Given the description of an element on the screen output the (x, y) to click on. 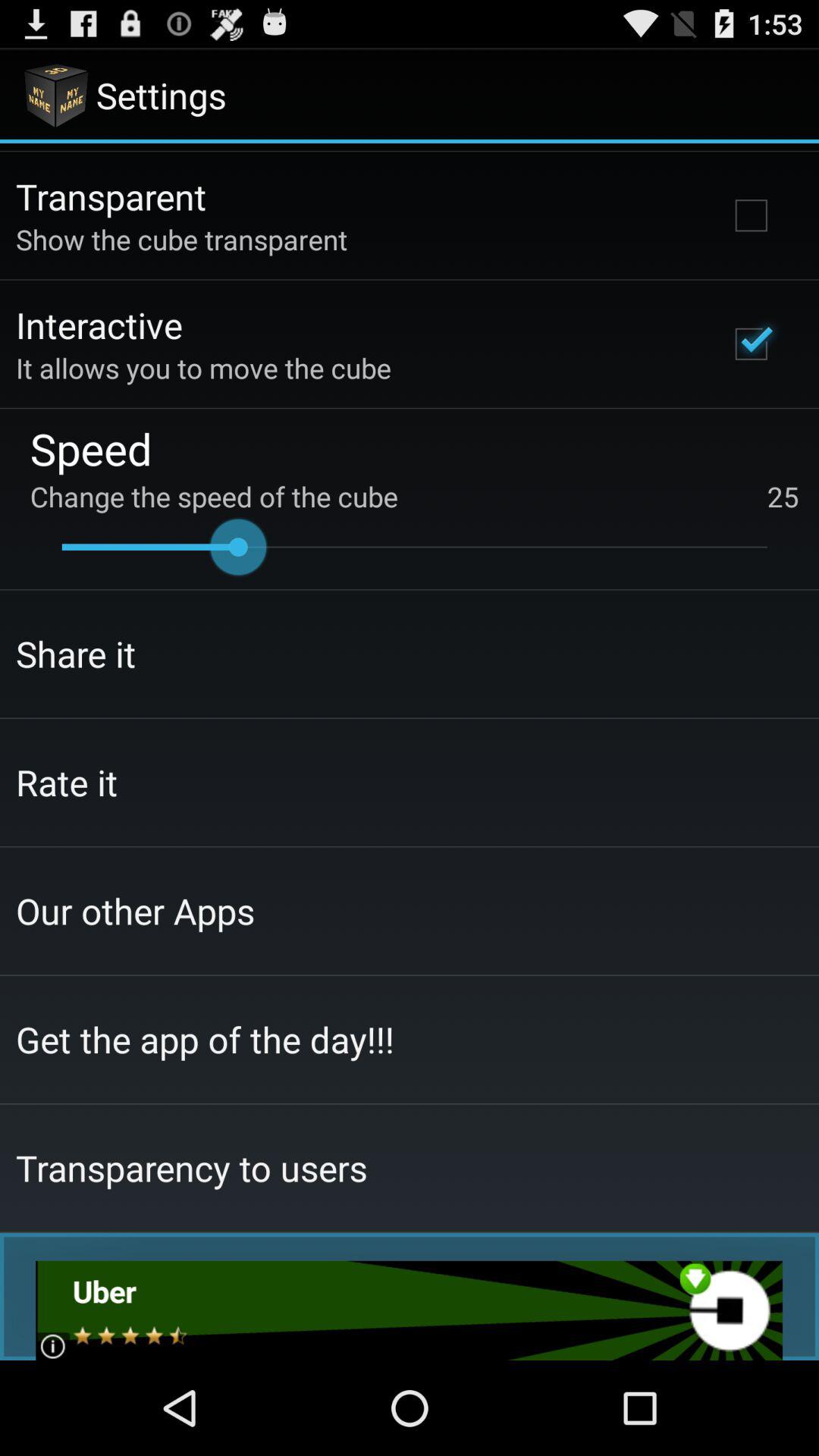
select the item below the transparency to users item (408, 1310)
